Given the description of an element on the screen output the (x, y) to click on. 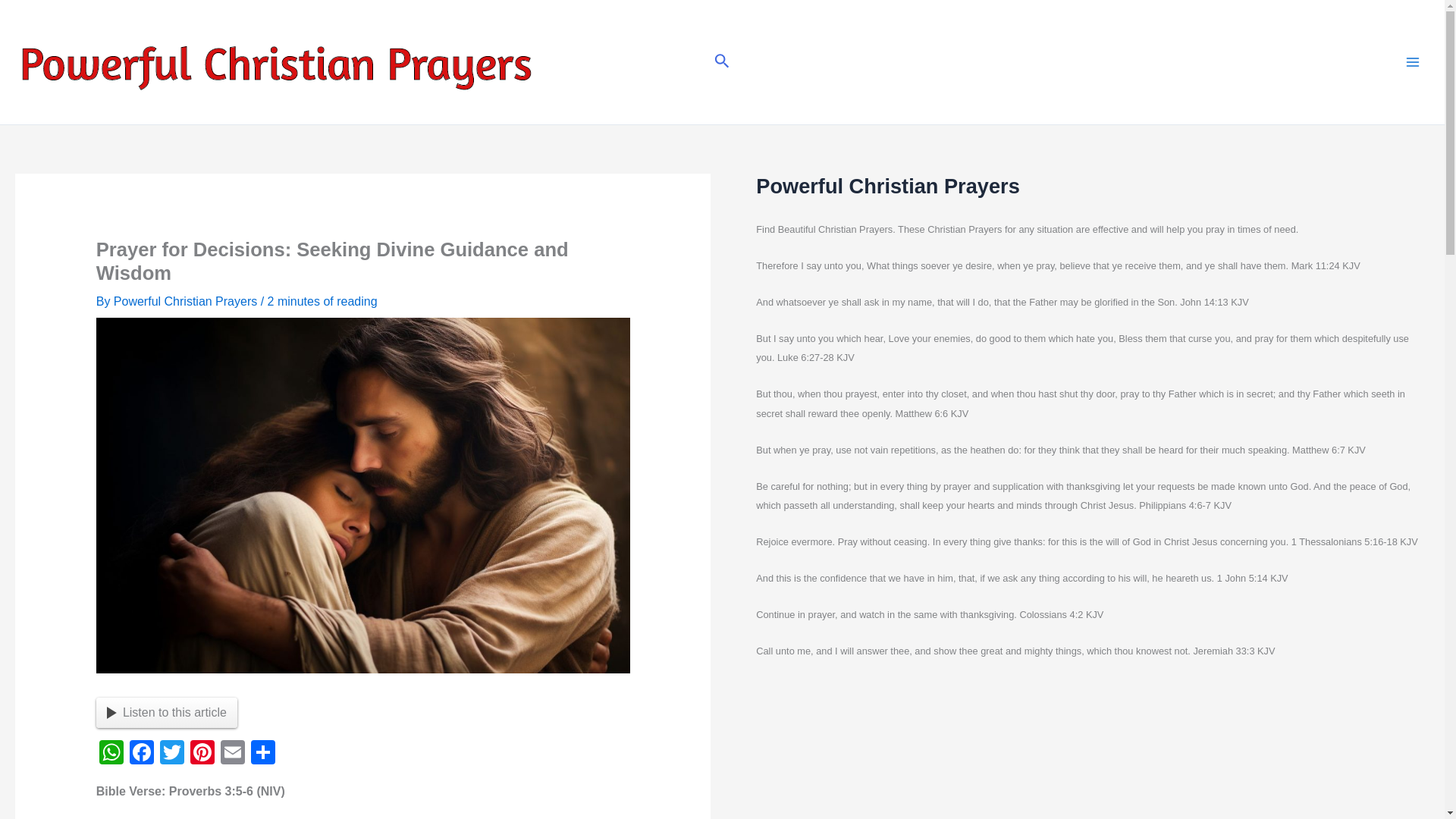
Email (231, 754)
Email (231, 754)
Twitter (172, 754)
Pinterest (201, 754)
Facebook (141, 754)
Powerful Christian Prayers (186, 300)
WhatsApp (111, 754)
WhatsApp (111, 754)
Twitter (172, 754)
Pinterest (201, 754)
